Given the description of an element on the screen output the (x, y) to click on. 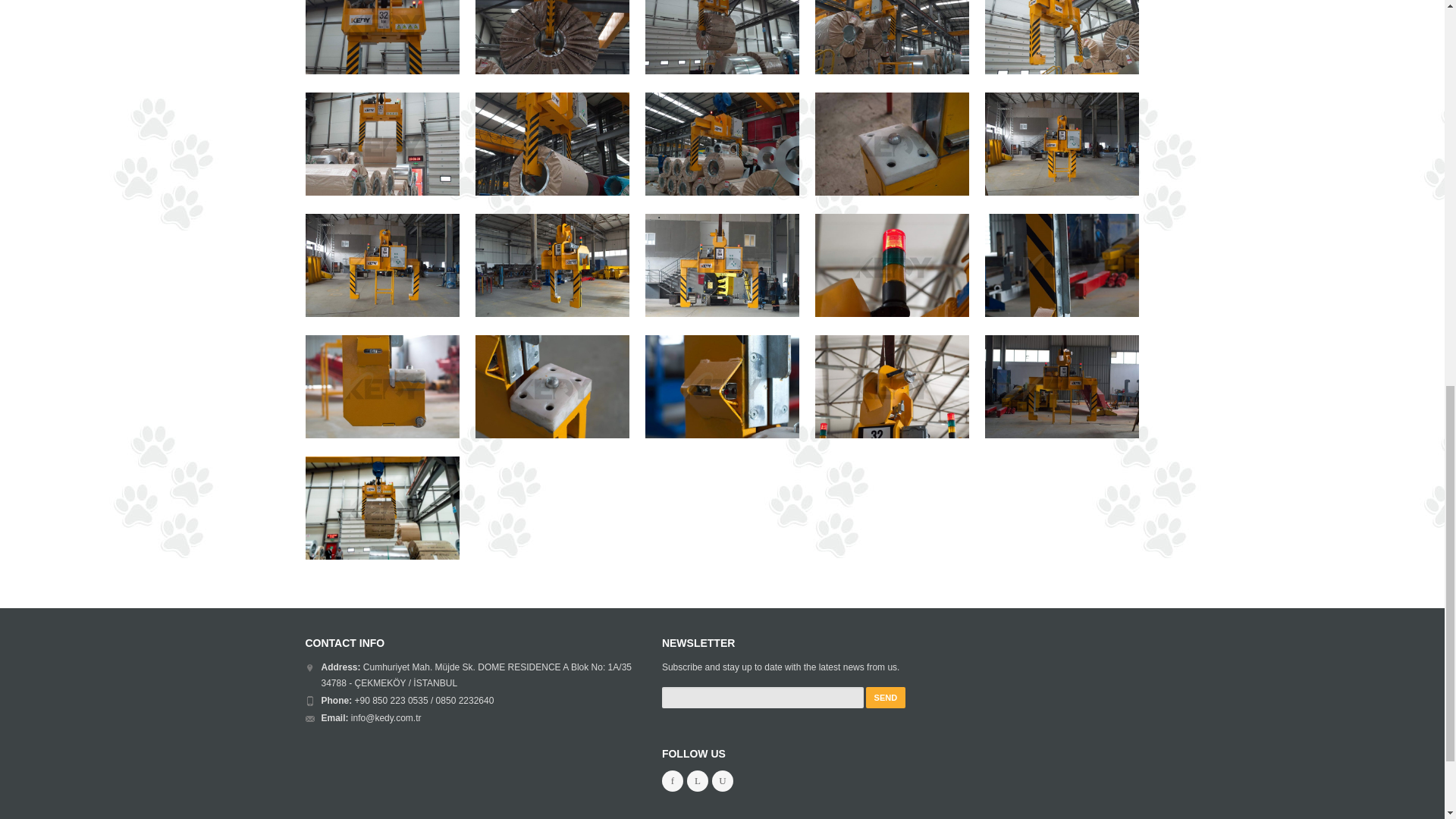
Send (885, 697)
